Given the description of an element on the screen output the (x, y) to click on. 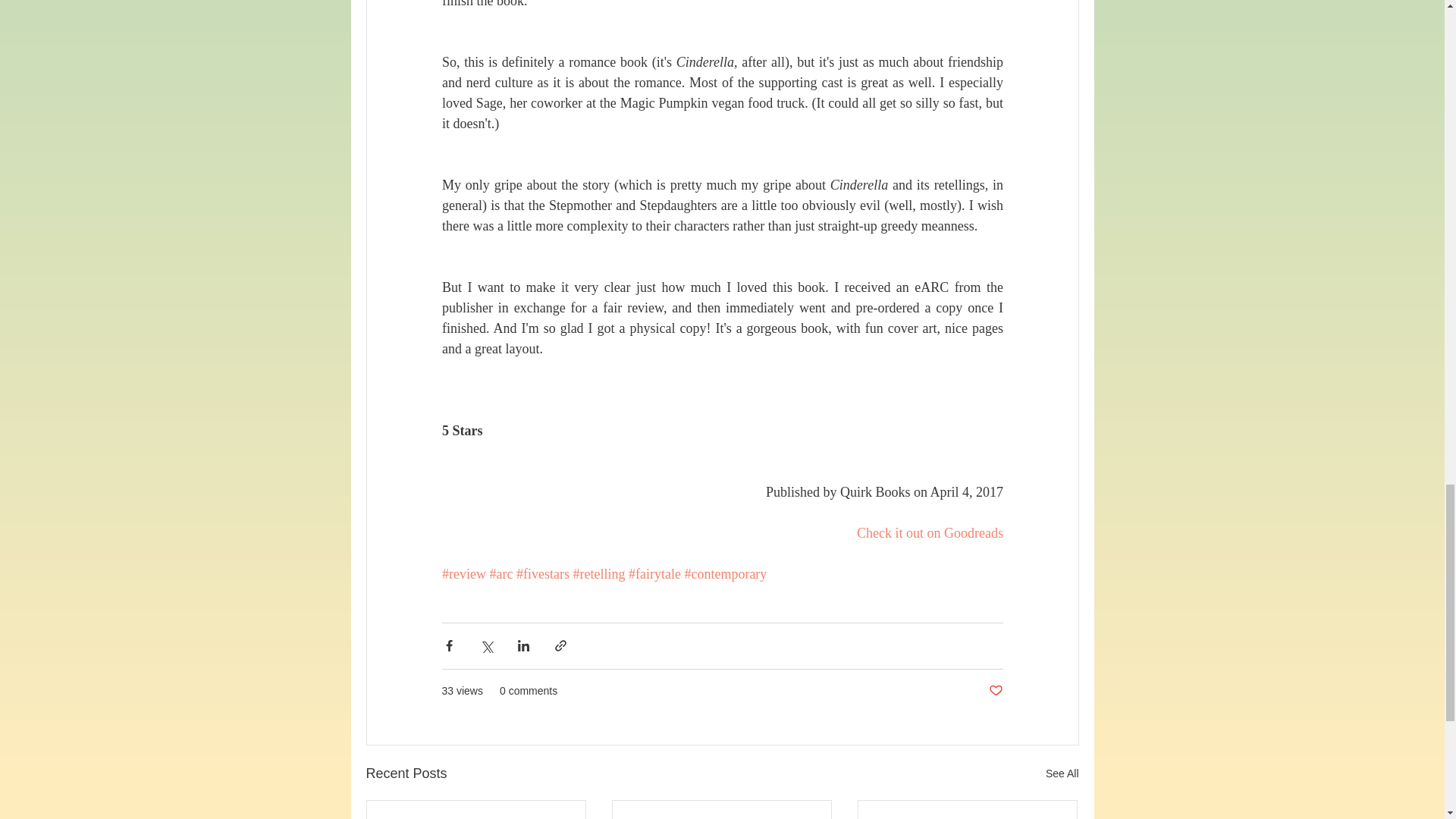
Check it out on Goodreads (930, 532)
Post not marked as liked (995, 691)
See All (1061, 773)
